Given the description of an element on the screen output the (x, y) to click on. 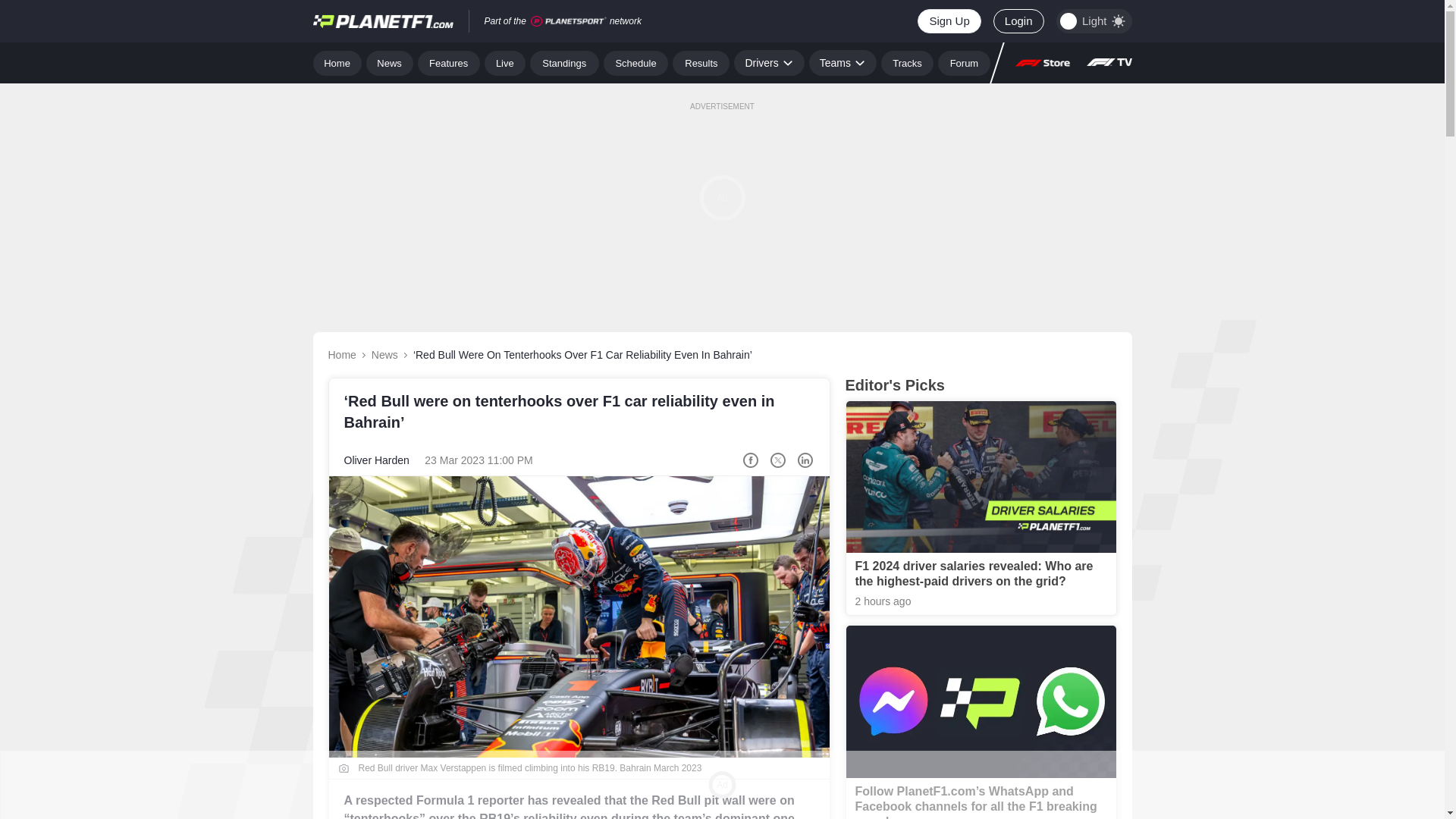
Features (448, 62)
Sign Up (948, 21)
Home (337, 62)
Login (1017, 21)
Results (700, 62)
Standings (563, 62)
News (389, 62)
Schedule (636, 62)
Live (504, 62)
Drivers (768, 62)
